Given the description of an element on the screen output the (x, y) to click on. 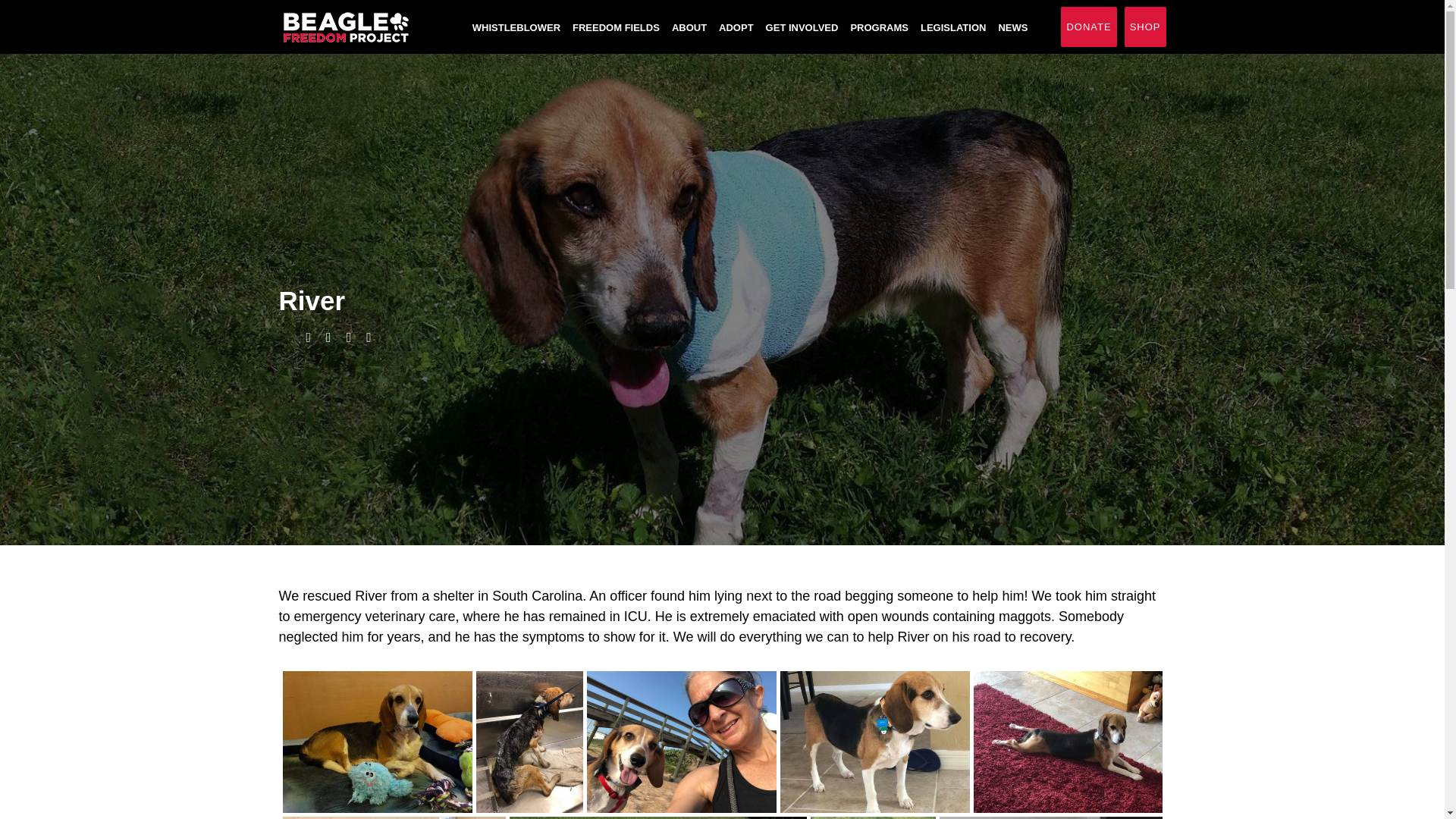
ABOUT (688, 27)
GET INVOLVED (801, 27)
PROGRAMS (879, 27)
ADOPT (736, 27)
WHISTLEBLOWER (515, 27)
River-with-stuffed-animal (376, 741)
FREEDOM FIELDS (615, 27)
